Given the description of an element on the screen output the (x, y) to click on. 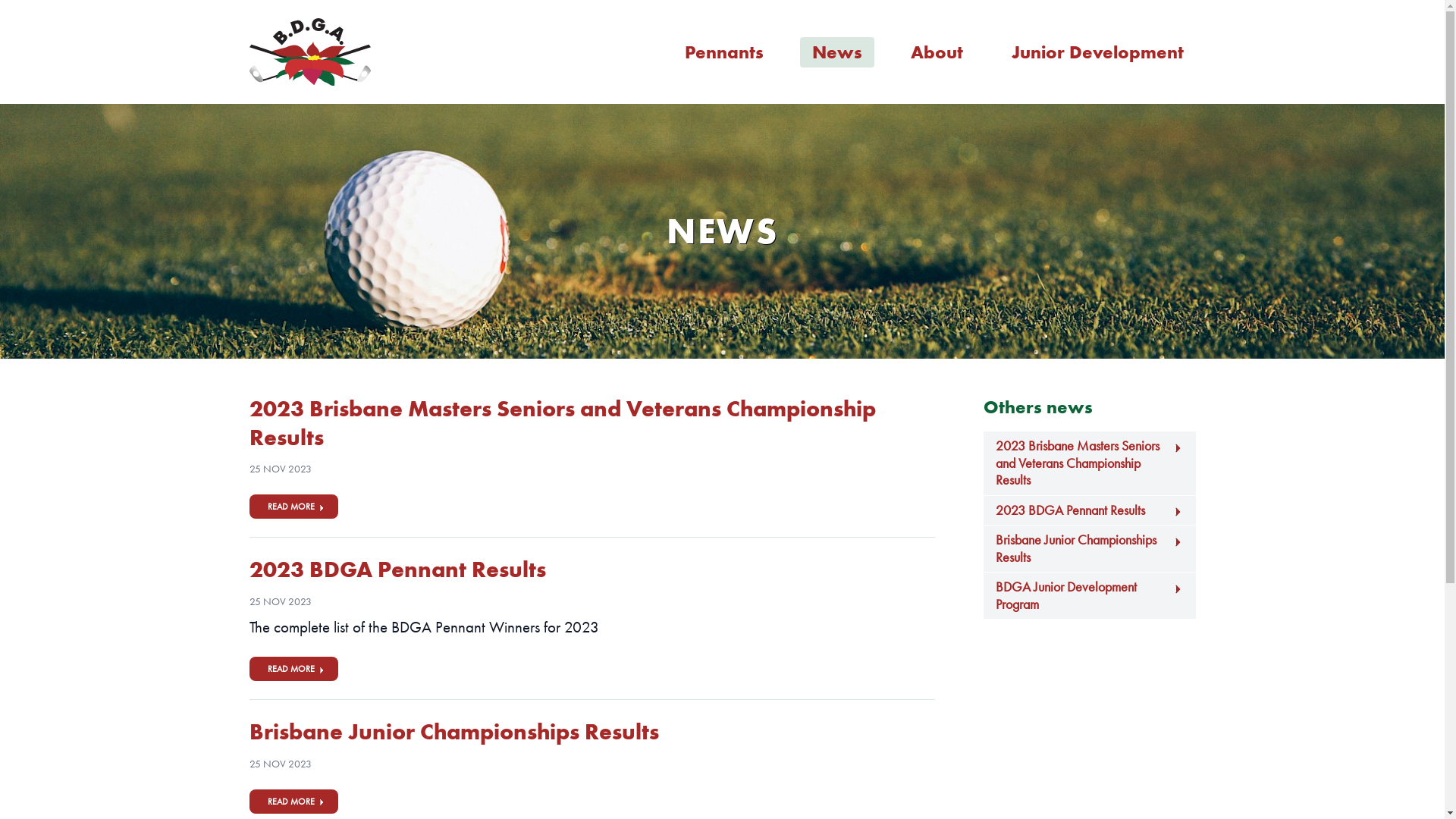
READ MORE
ABOUT BRISBANE JUNIOR CHAMPIONSHIPS RESULTS Element type: text (292, 801)
Brisbane Junior Championships Results Element type: text (1088, 548)
News Element type: text (836, 52)
Brisbane Junior Championships Results Element type: text (453, 731)
2023 BDGA Pennant Results Element type: text (1088, 510)
READ MORE
ABOUT 2023 BDGA PENNANT RESULTS Element type: text (292, 668)
BDGA Junior Development Program Element type: text (1088, 595)
2023 BDGA Pennant Results Element type: text (396, 569)
Pennants Element type: text (723, 52)
About Element type: text (935, 52)
Junior Development Element type: text (1097, 52)
